Given the description of an element on the screen output the (x, y) to click on. 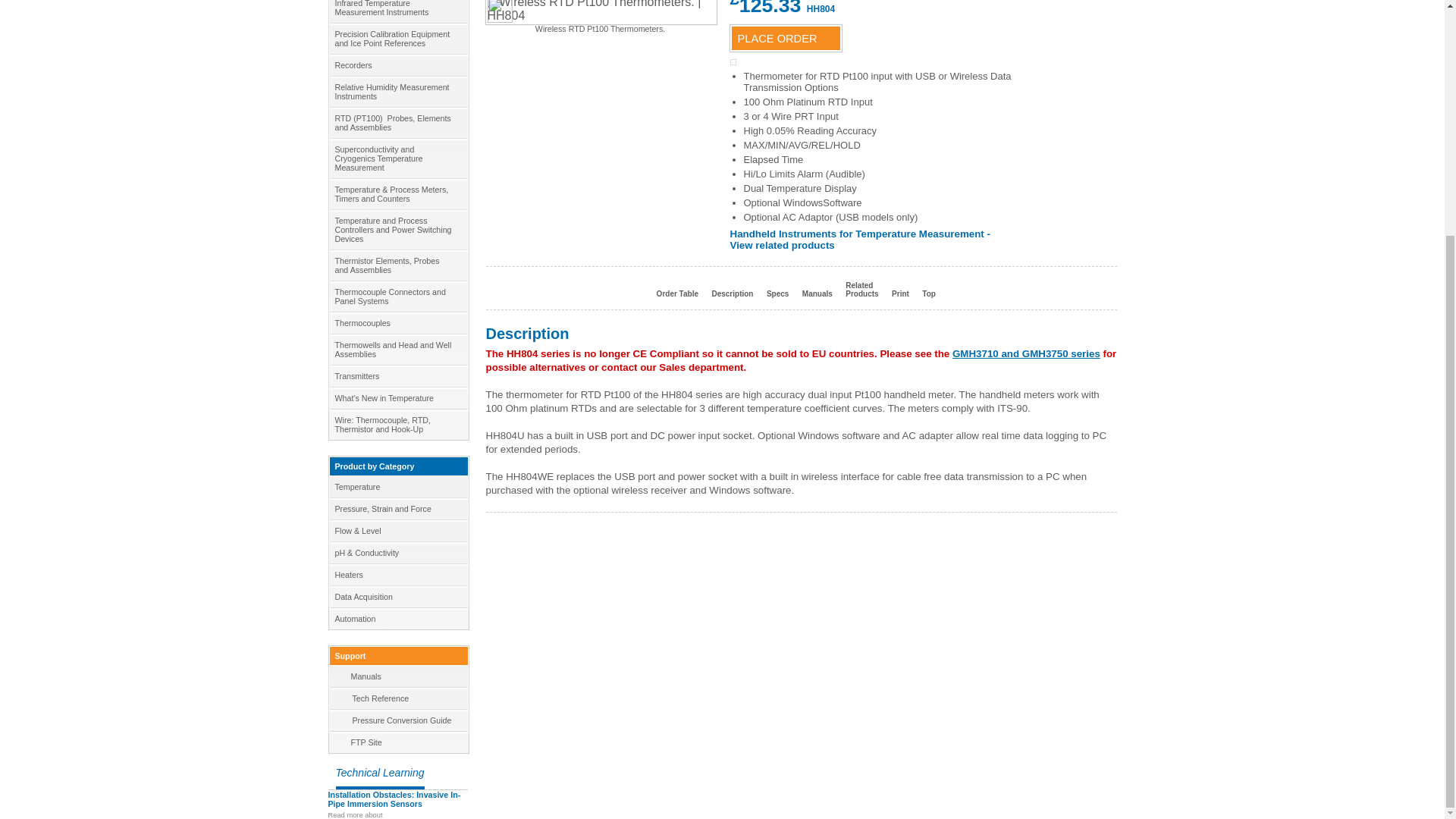
Relative Humidity Measurement Instruments (398, 91)
Precision Calibration Equipment and Ice Point References (398, 38)
What's New in Temperature (398, 397)
Recorders (398, 65)
Superconductivity and Cryogenics Temperature Measurement (398, 158)
Thermocouple Connectors and Panel Systems (398, 296)
Transmitters (398, 375)
Thermowells and Head and Well Assemblies (398, 349)
Thermocouples (398, 322)
Thermistor Elements, Probes and Assemblies (398, 265)
